Given the description of an element on the screen output the (x, y) to click on. 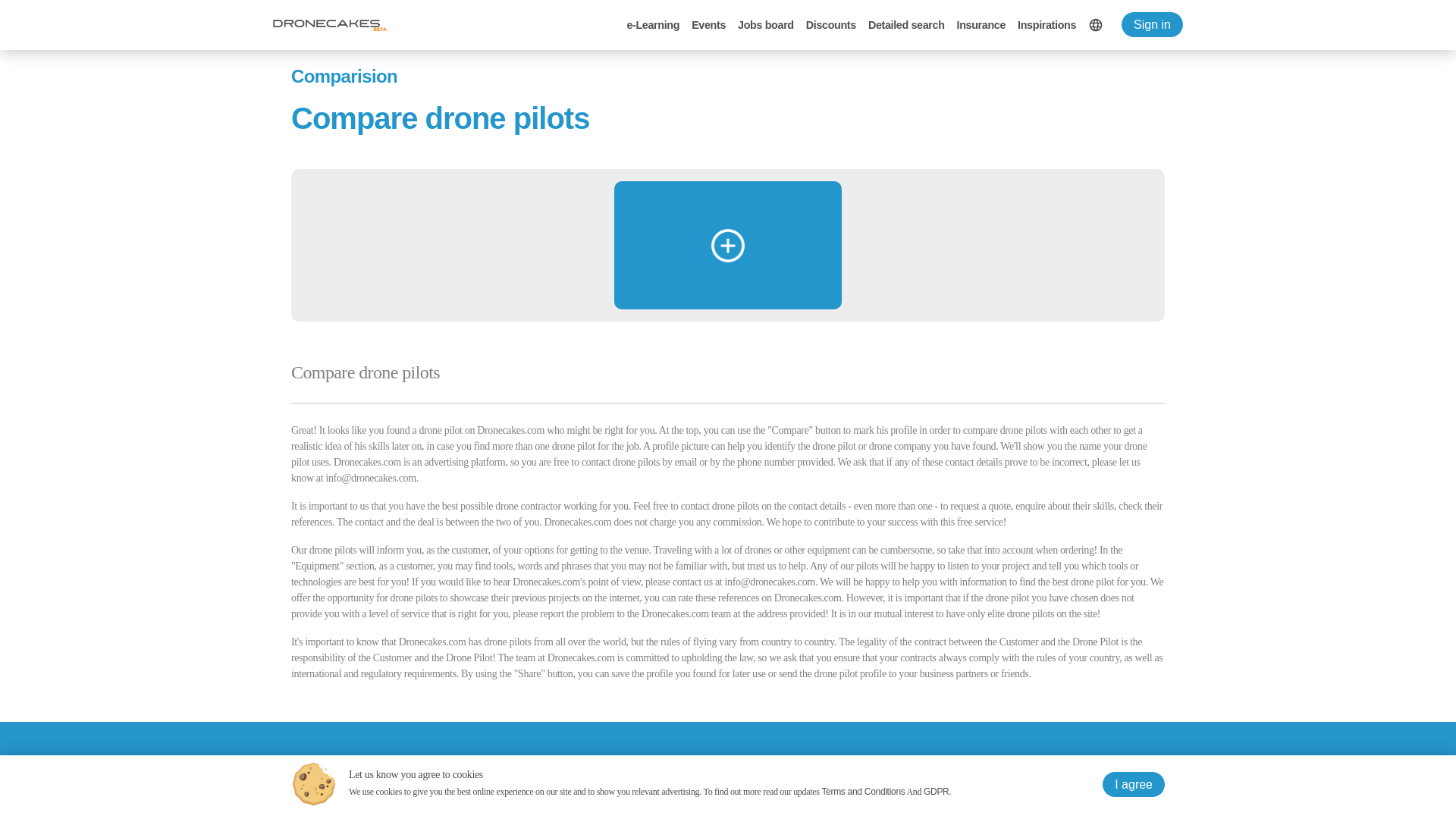
Jobs board (765, 24)
GDPR (936, 791)
Inspirations (1046, 24)
Detailed search (905, 24)
Events (708, 24)
Insurance (981, 24)
Subscribe (769, 815)
Terms and Conditions (862, 791)
Discounts (831, 24)
Sign in (1151, 24)
